Given the description of an element on the screen output the (x, y) to click on. 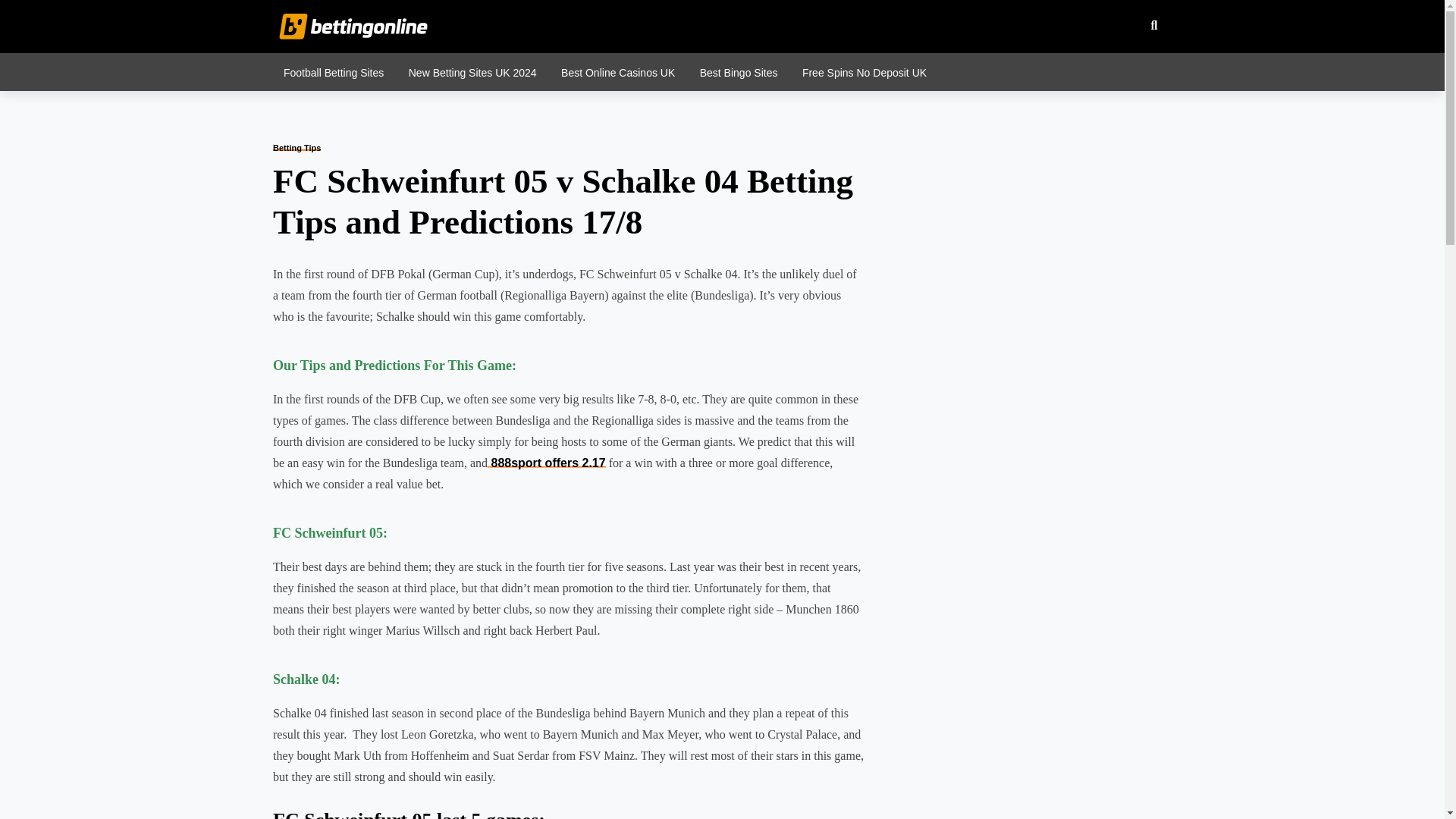
Football Betting Sites (333, 71)
New Betting Sites UK 2024 (472, 71)
Best Online Casinos UK (617, 71)
Betting Tips (296, 147)
Free Spins No Deposit UK (864, 71)
Best Bingo Sites (738, 71)
888sport offers 2.17 (546, 462)
